Given the description of an element on the screen output the (x, y) to click on. 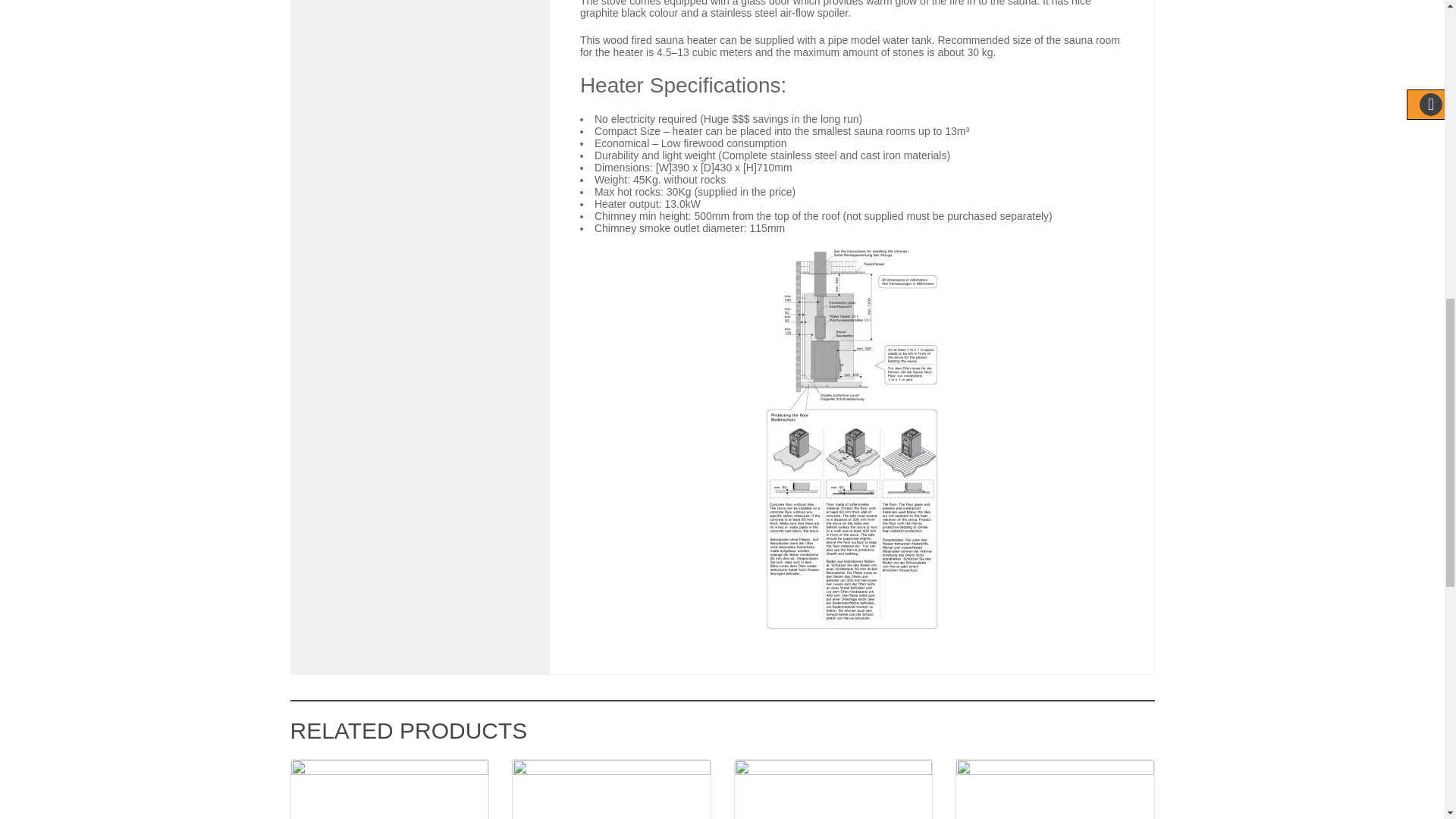
View details (611, 789)
View details (390, 789)
View details (832, 789)
View details (1055, 789)
